Given the description of an element on the screen output the (x, y) to click on. 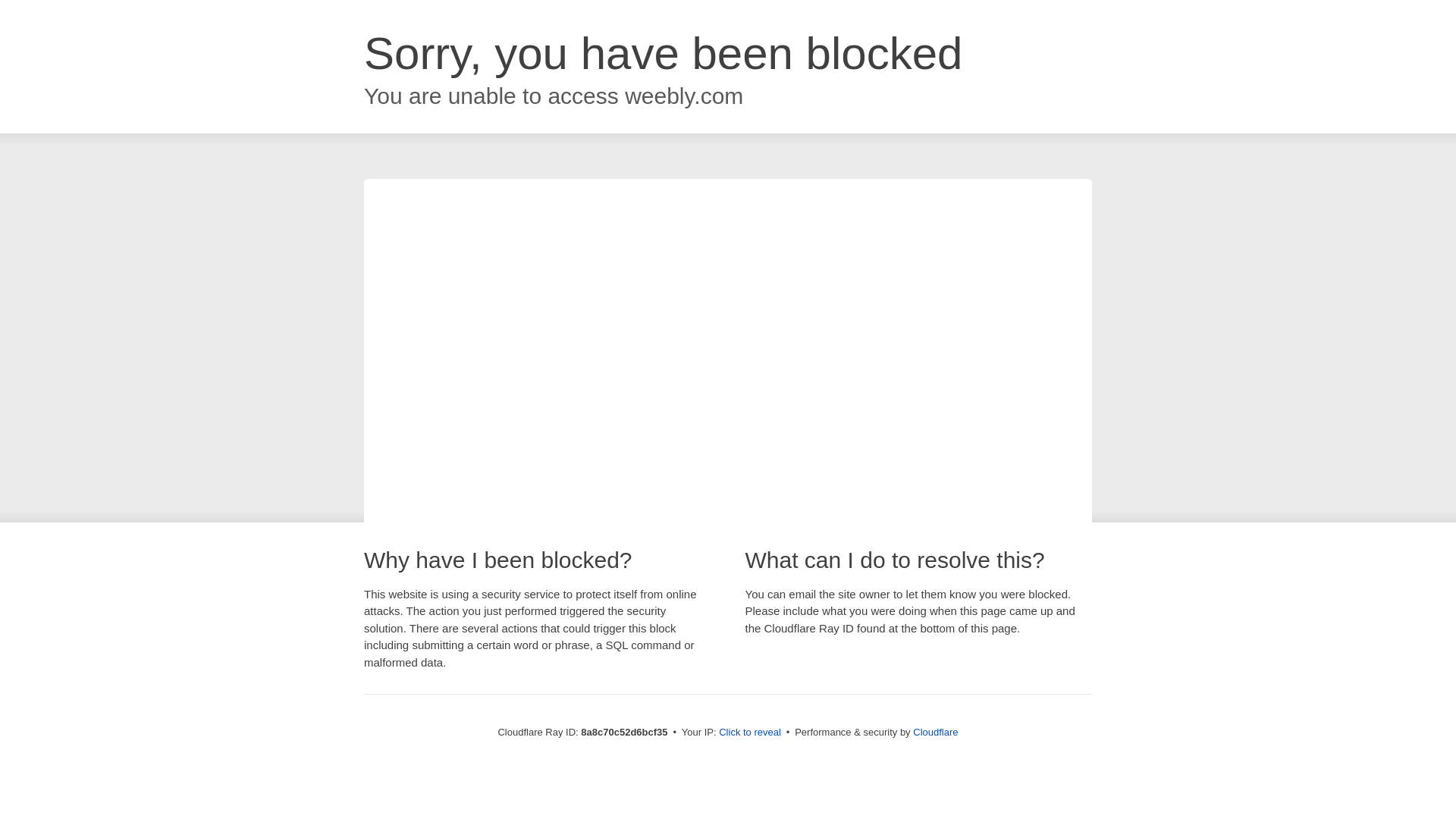
Cloudflare (935, 731)
Click to reveal (749, 732)
